Given the description of an element on the screen output the (x, y) to click on. 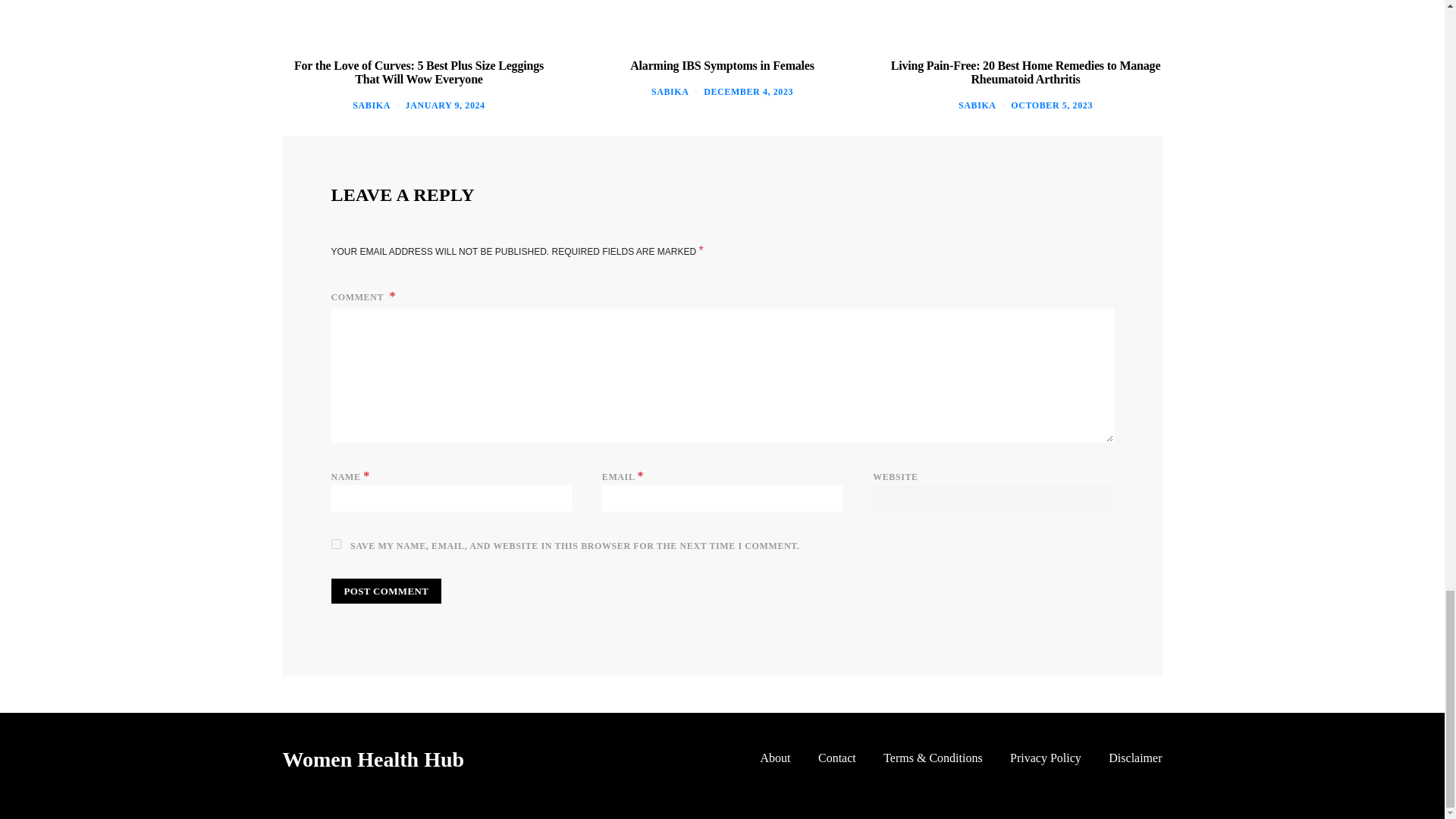
View all posts by Sabika (669, 91)
yes (335, 543)
View all posts by Sabika (976, 104)
Post Comment (385, 591)
View all posts by Sabika (371, 104)
